Given the description of an element on the screen output the (x, y) to click on. 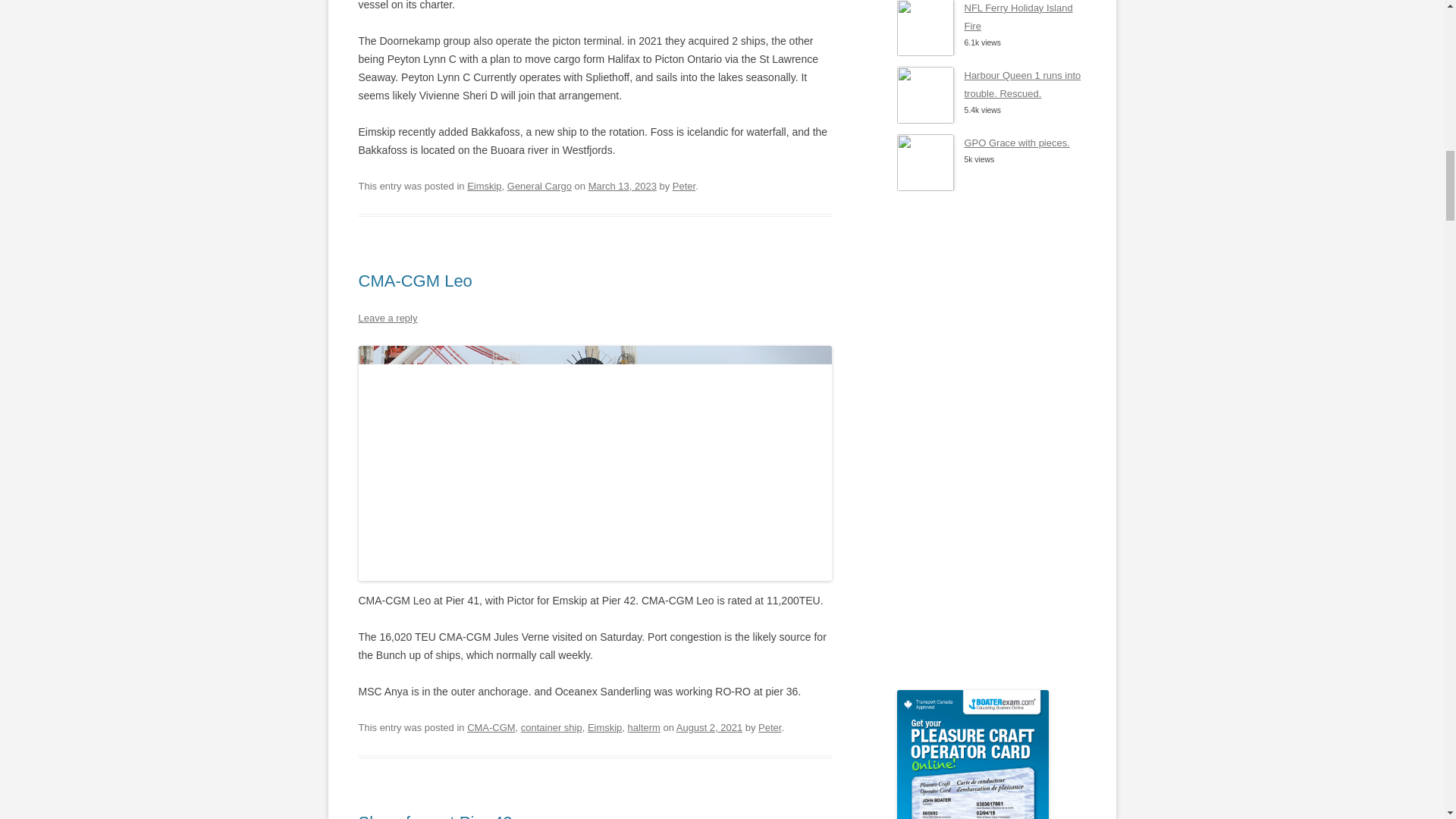
View all posts by Peter (683, 185)
General Cargo (539, 185)
CMA-CGM (491, 727)
3:12 pm (622, 185)
2:34 pm (709, 727)
halterm (644, 727)
CMA-CGM Leo (414, 280)
View all posts by Peter (769, 727)
Skogafoss at Pier 42 (435, 816)
container ship (551, 727)
